Given the description of an element on the screen output the (x, y) to click on. 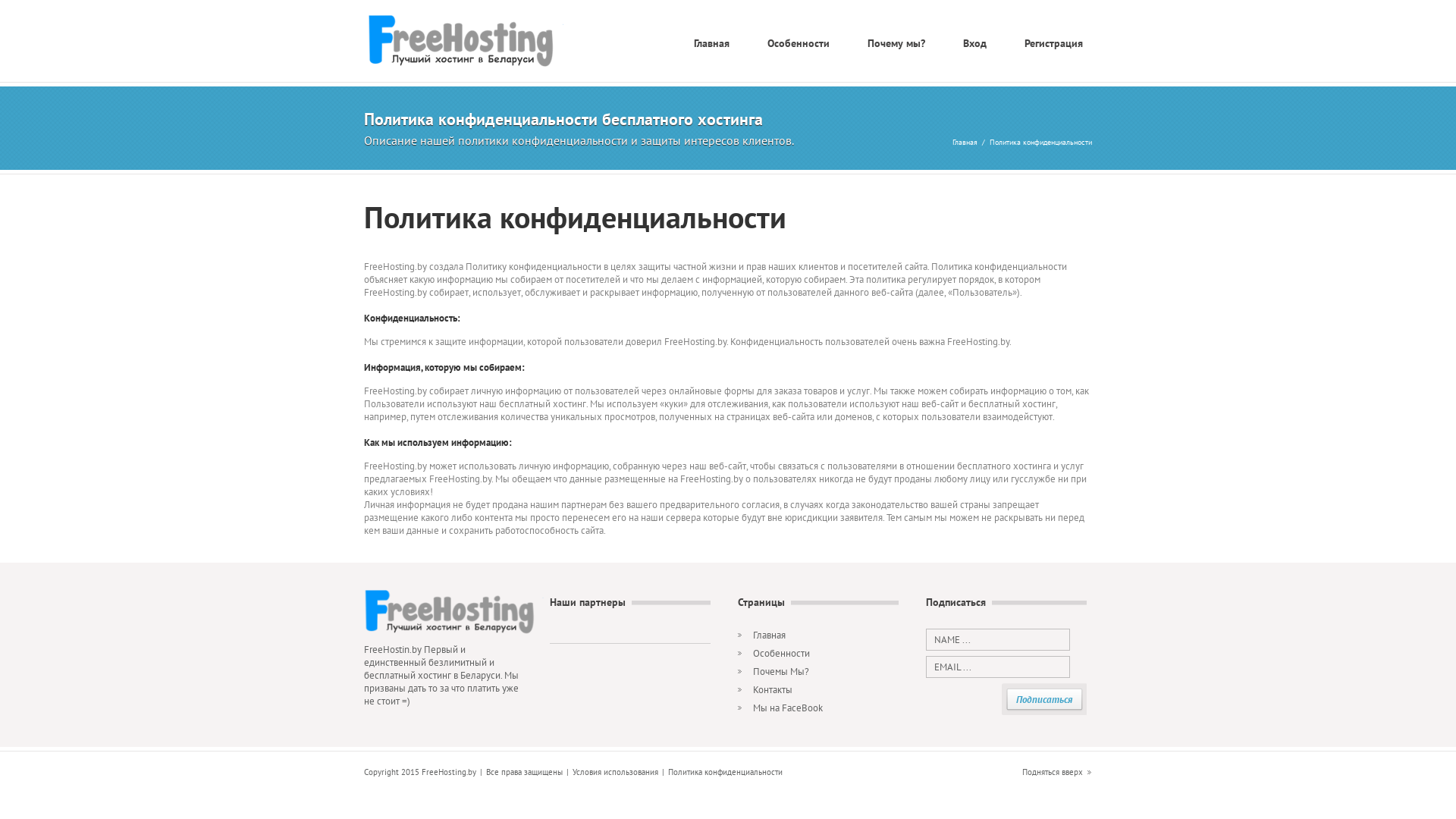
FreeHosting.by Element type: text (474, 42)
